Given the description of an element on the screen output the (x, y) to click on. 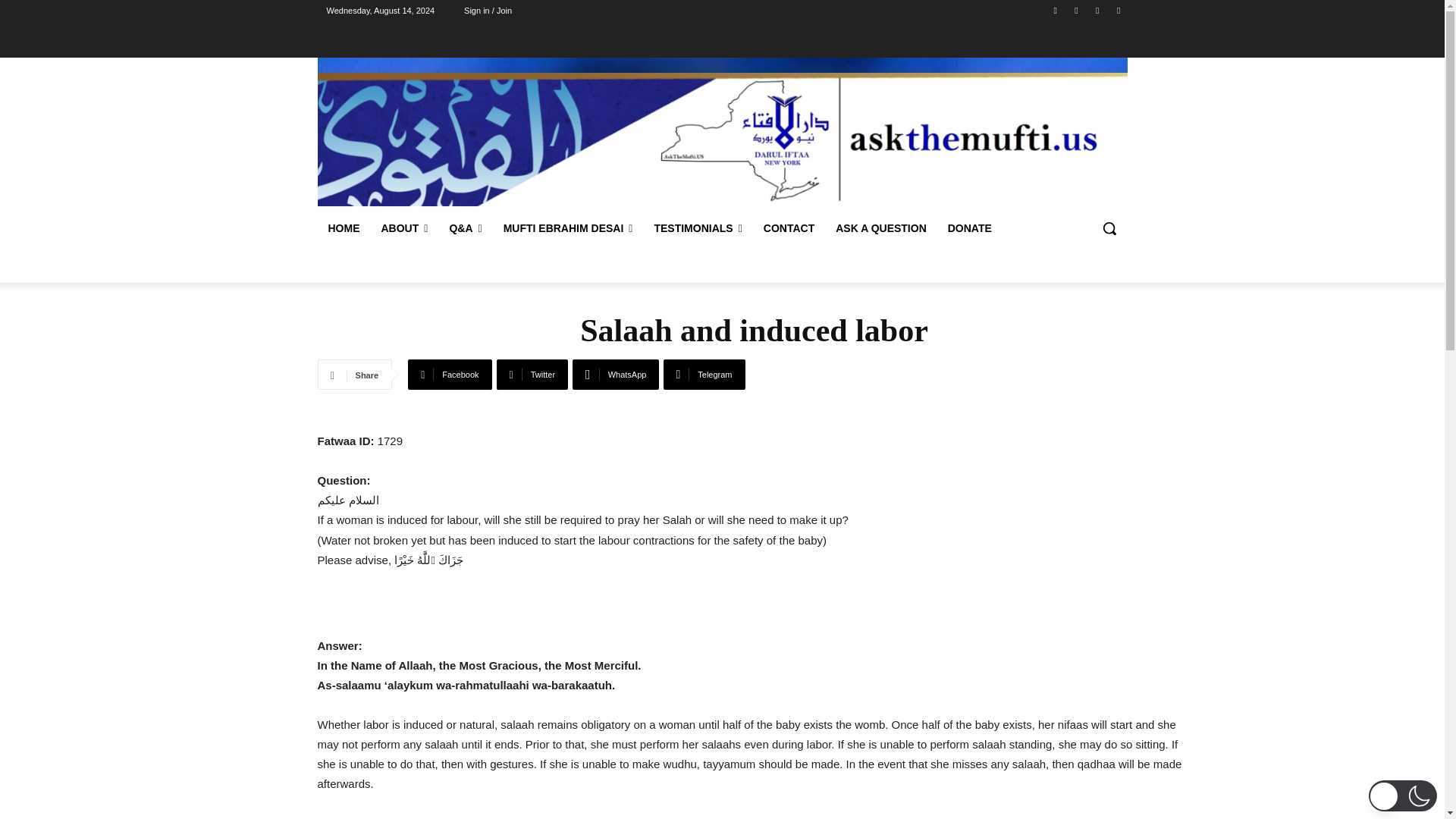
Mail (1097, 9)
Twitter (1117, 9)
Twitter (532, 374)
Facebook (449, 374)
Instagram (1075, 9)
Facebook (1055, 9)
